Given the description of an element on the screen output the (x, y) to click on. 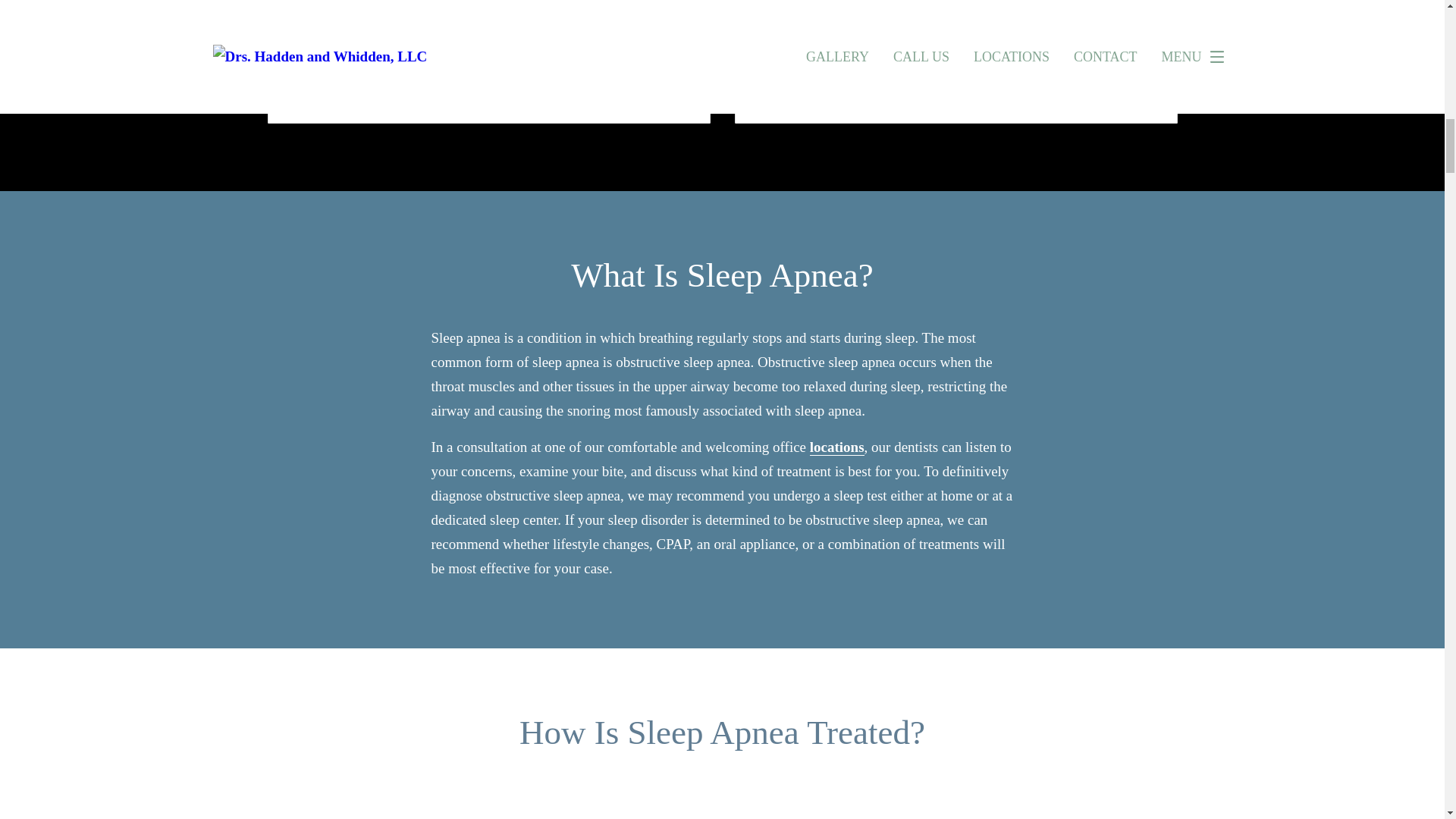
View On Facebook (829, 4)
View On Facebook (362, 74)
locations (836, 446)
